Given the description of an element on the screen output the (x, y) to click on. 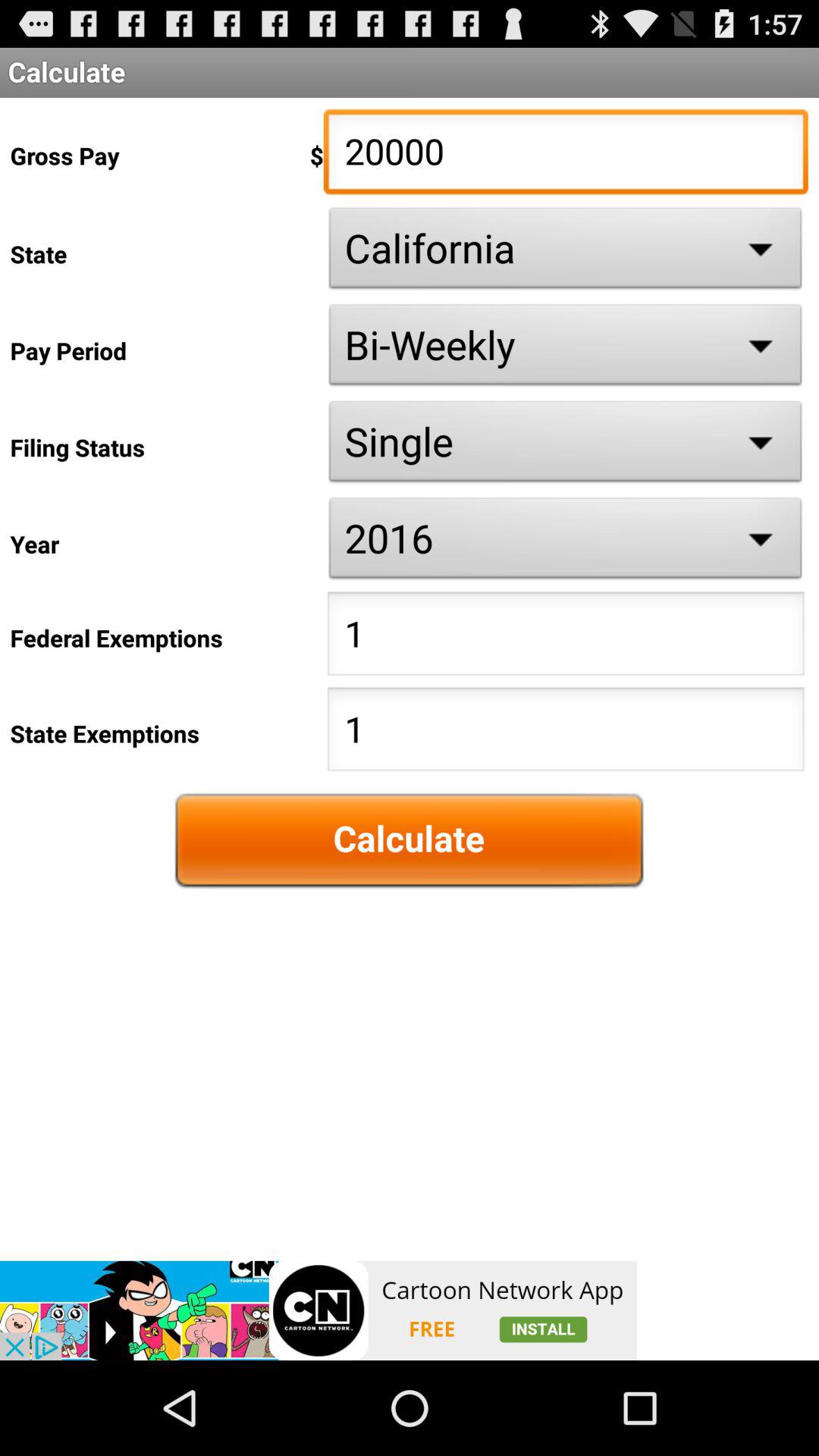
go to advertisement (318, 1310)
